Given the description of an element on the screen output the (x, y) to click on. 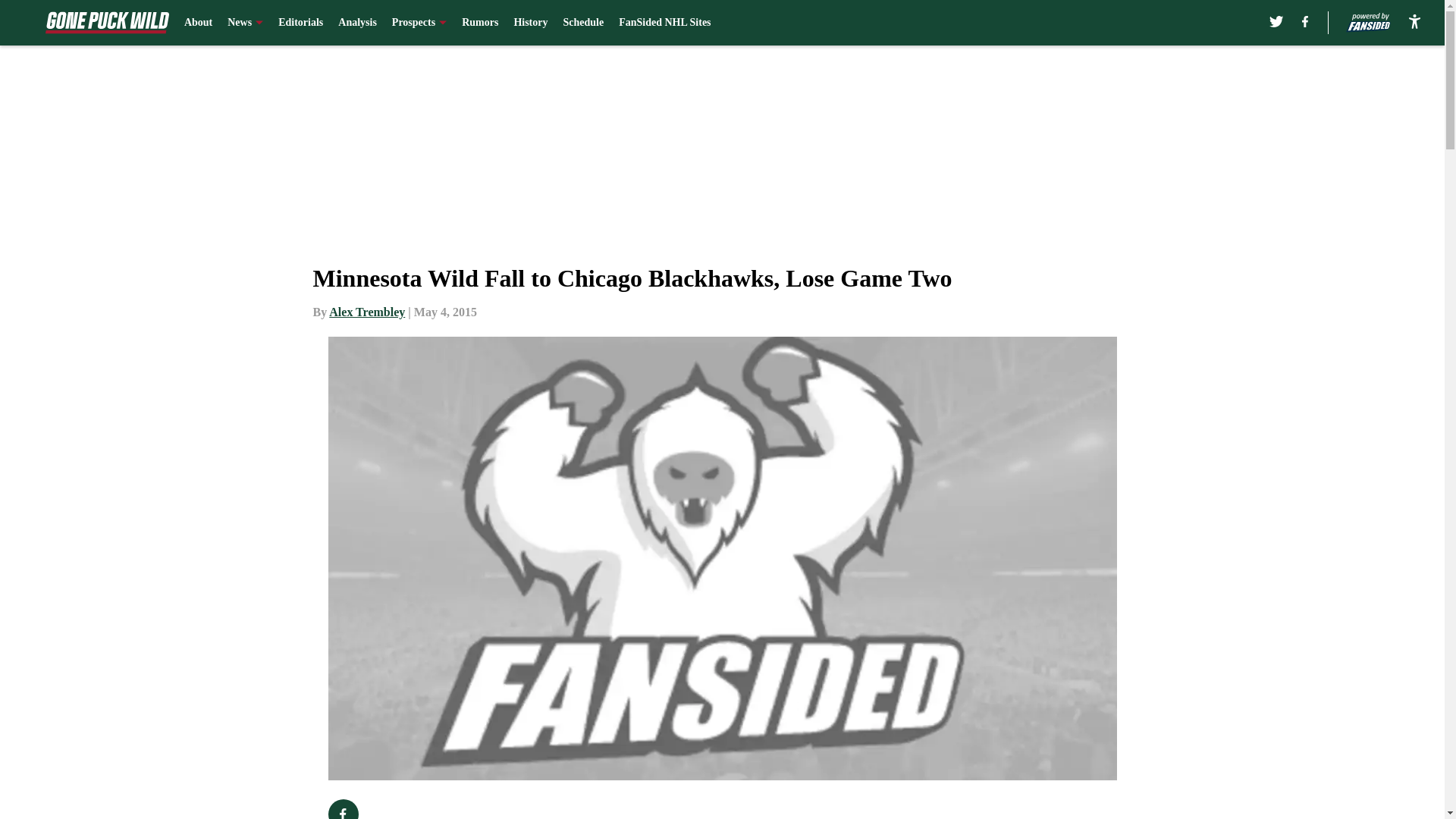
Editorials (300, 22)
About (198, 22)
FanSided NHL Sites (664, 22)
Analysis (357, 22)
Rumors (479, 22)
History (530, 22)
Alex Trembley (366, 311)
Schedule (583, 22)
